Given the description of an element on the screen output the (x, y) to click on. 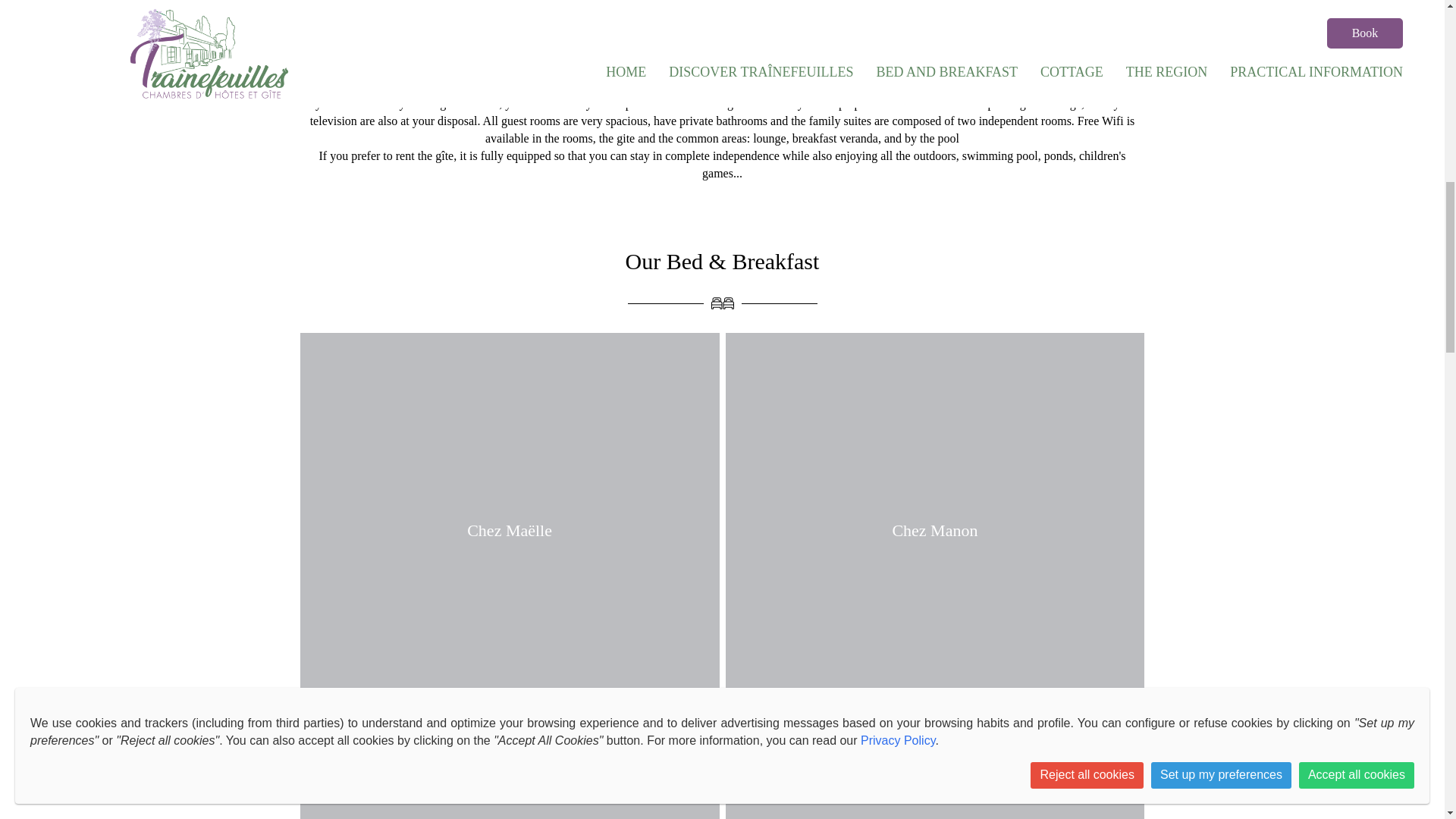
Chez Flora (509, 794)
